Given the description of an element on the screen output the (x, y) to click on. 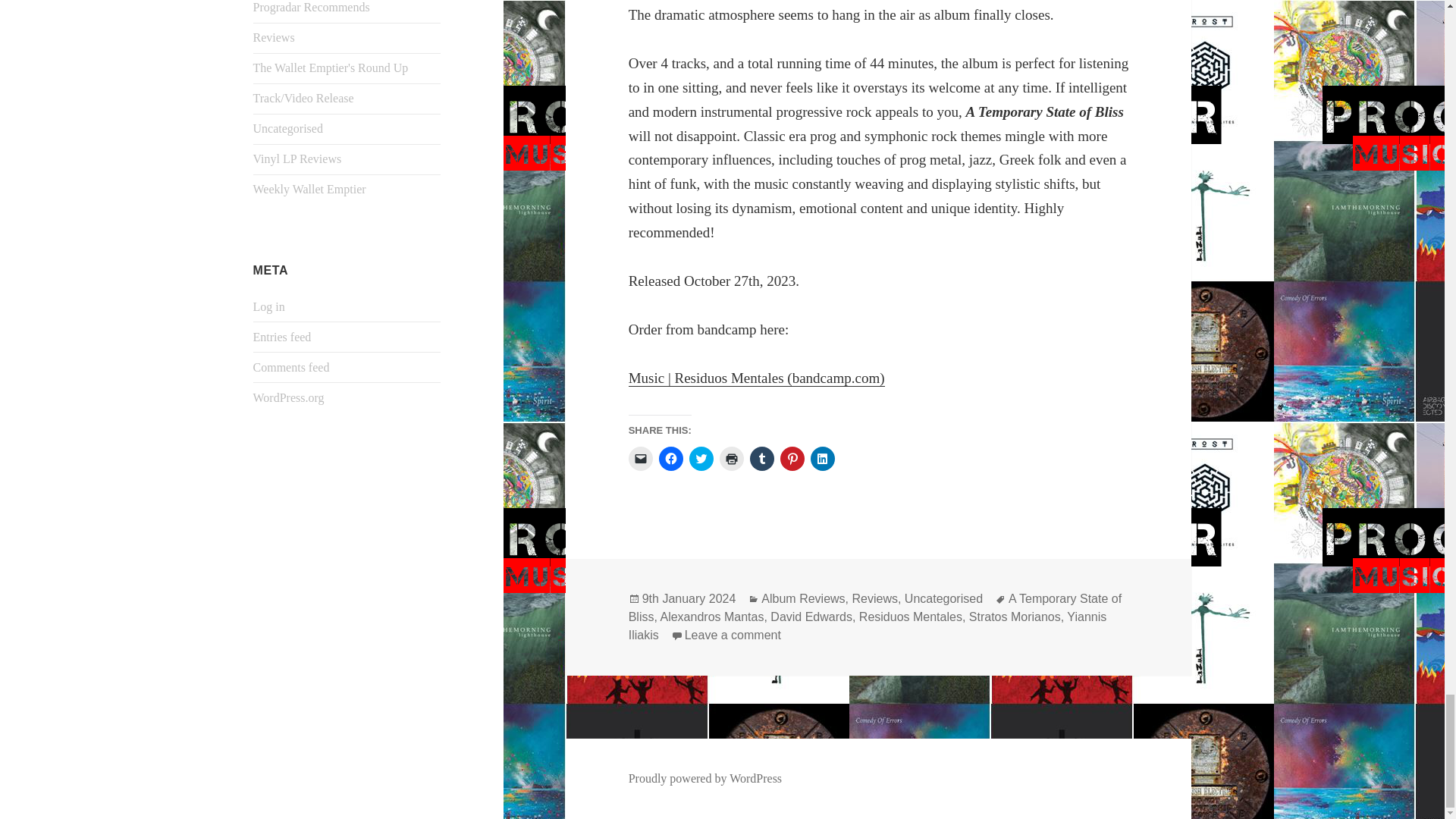
Click to share on Twitter (700, 458)
Click to share on Facebook (670, 458)
Click to email a link to a friend (640, 458)
Click to share on LinkedIn (822, 458)
Click to share on Tumblr (761, 458)
Click to print (731, 458)
Click to share on Pinterest (792, 458)
